Given the description of an element on the screen output the (x, y) to click on. 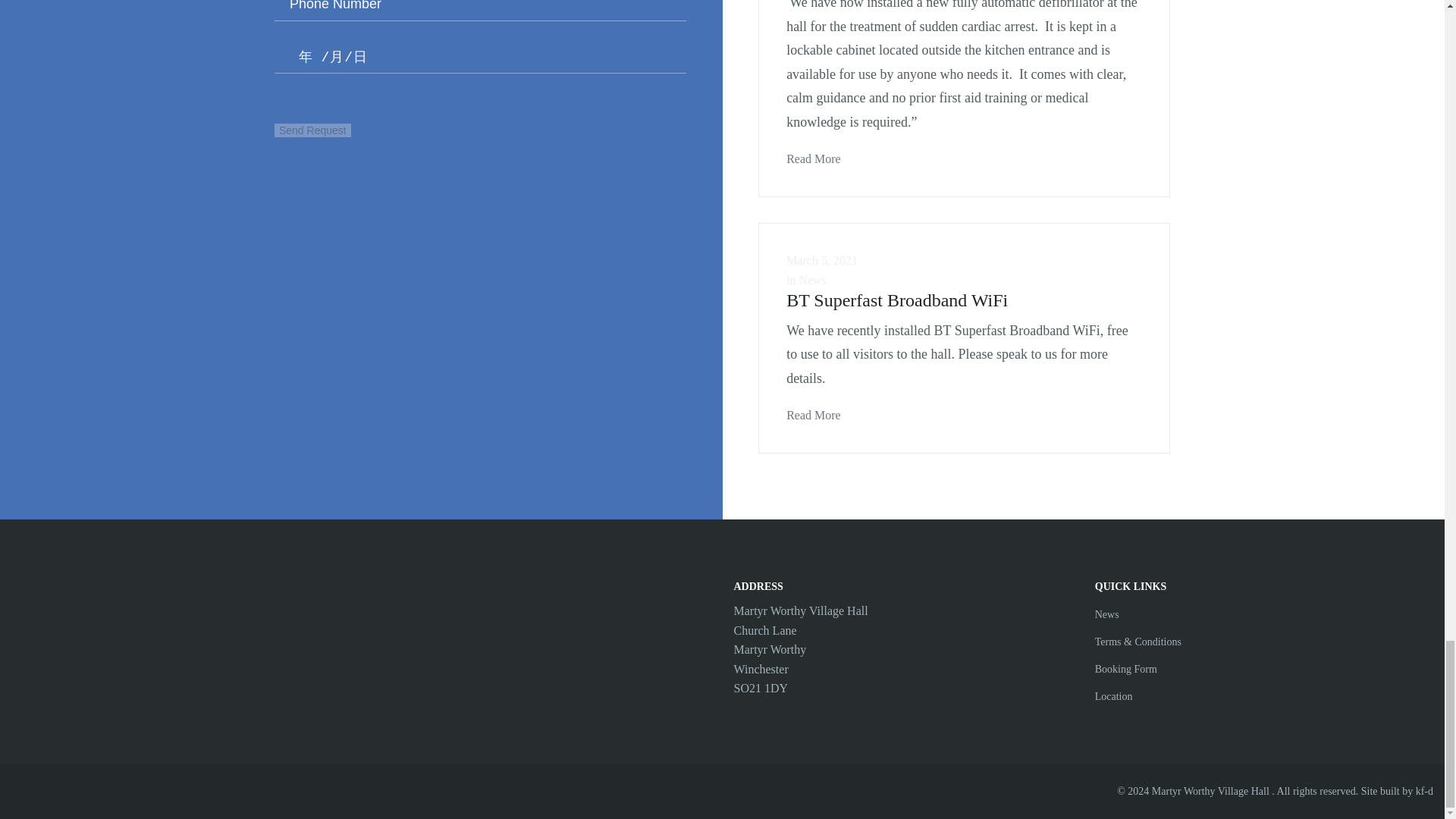
Read More (813, 151)
Send Request (312, 130)
March 5, 2021 (821, 259)
kf-d (1423, 790)
BT Superfast Broadband WiFi (896, 300)
News (813, 279)
Booking Form (1125, 668)
Send Request (312, 130)
News (1106, 614)
Read More (813, 407)
